Given the description of an element on the screen output the (x, y) to click on. 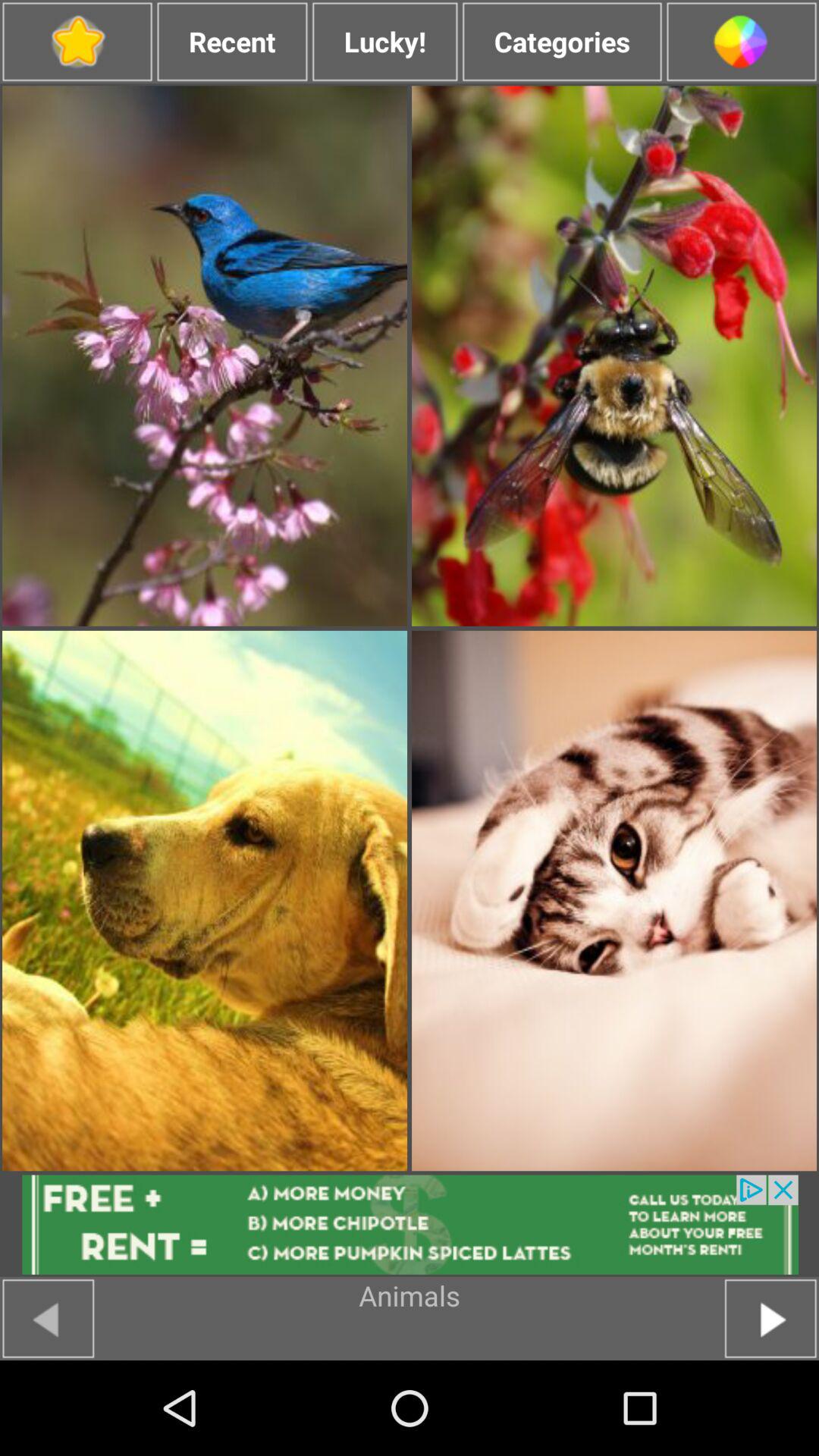
toggle autoplay option (770, 1318)
